Given the description of an element on the screen output the (x, y) to click on. 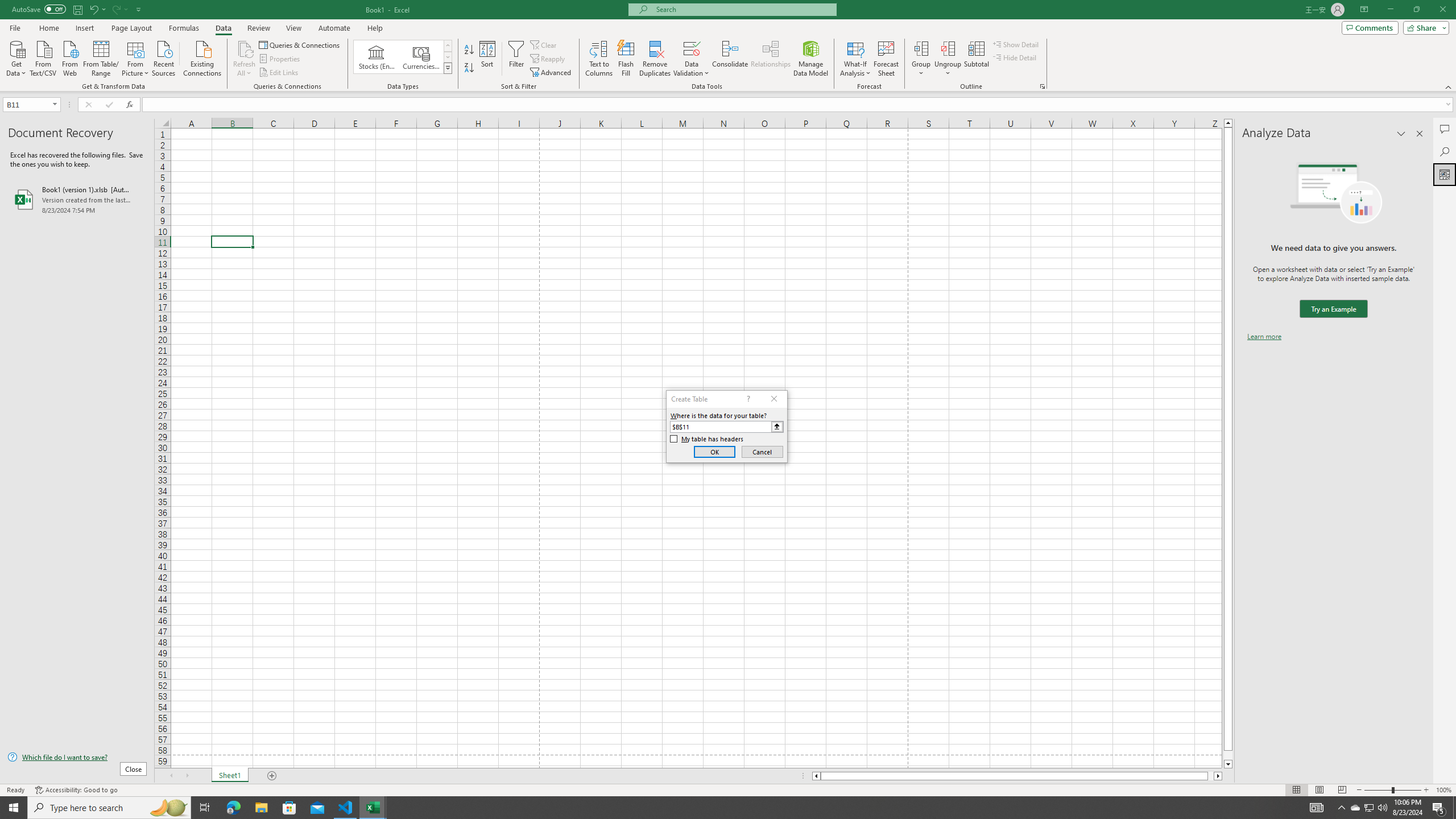
Flash Fill (625, 58)
Sort... (487, 58)
We need data to give you answers. Try an Example (1333, 308)
Existing Connections (202, 57)
Show Detail (1016, 44)
Sort Z to A (469, 67)
